Given the description of an element on the screen output the (x, y) to click on. 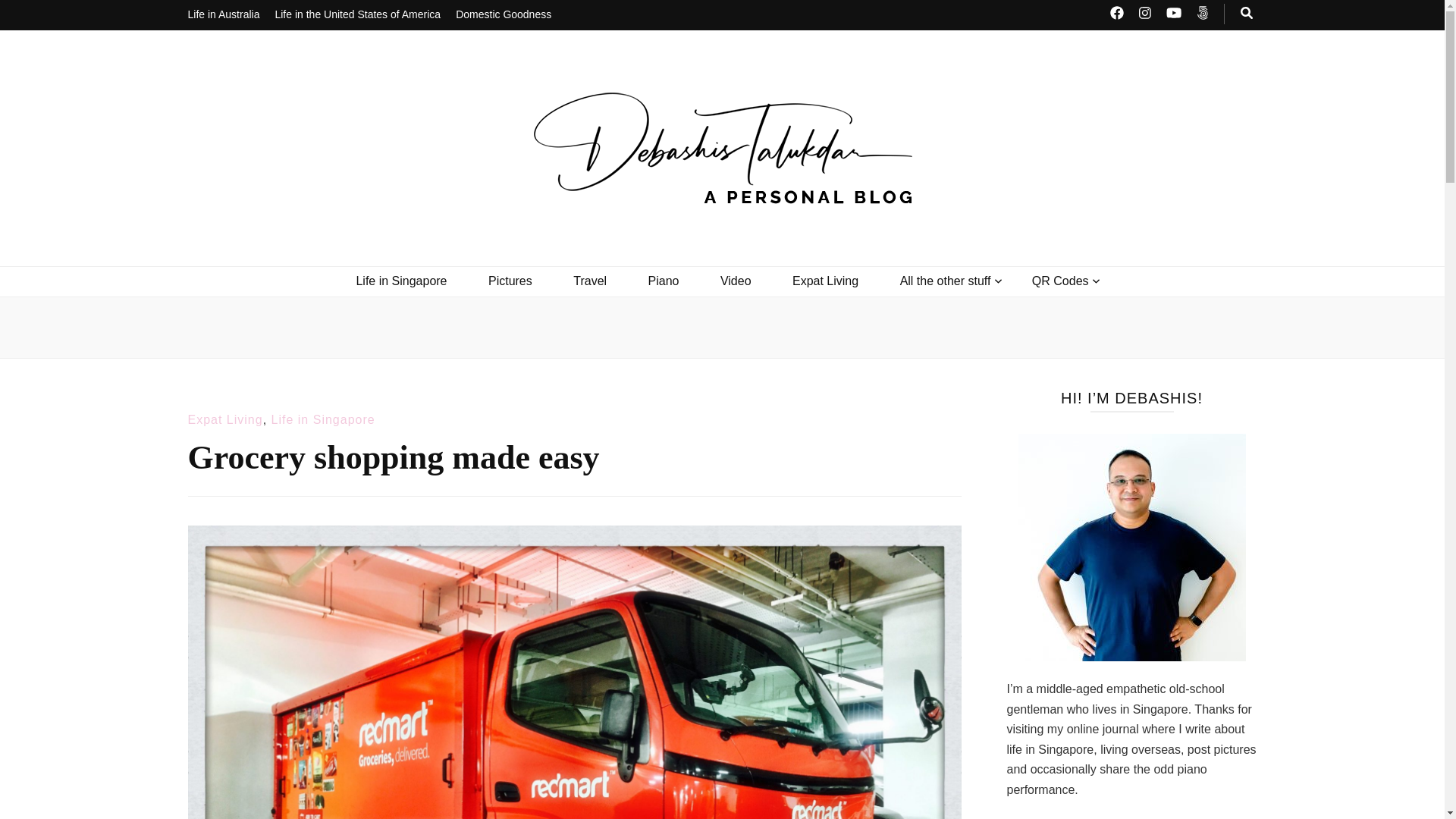
Piano (663, 281)
Pictures (509, 281)
Expat Living (825, 281)
Life in Singapore (400, 281)
Domestic Goodness (503, 15)
Life in the United States of America (358, 15)
Travel (590, 281)
QR Codes (1060, 281)
Video (735, 281)
Life in Australia (223, 15)
All the other stuff (945, 281)
